Given the description of an element on the screen output the (x, y) to click on. 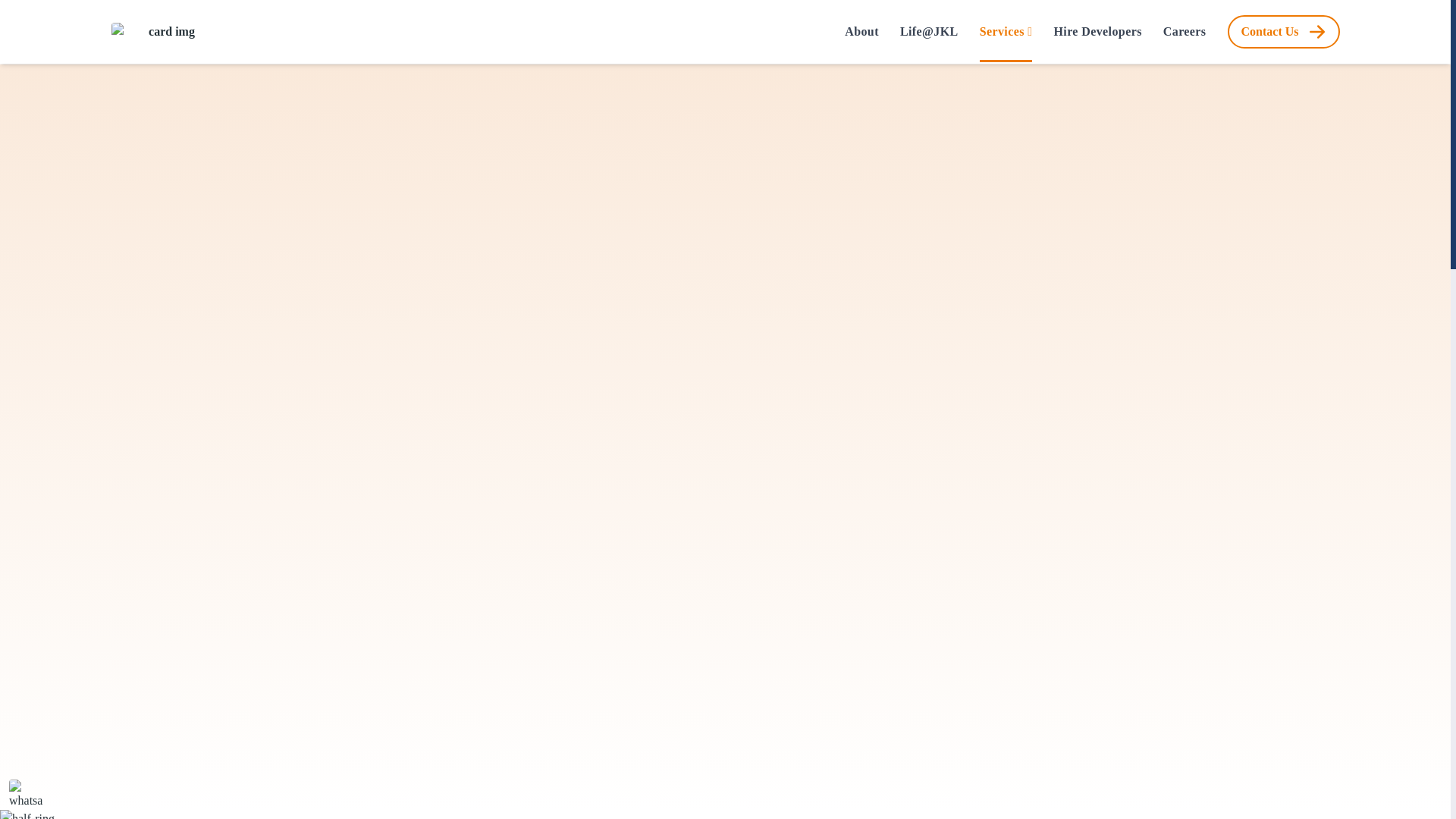
About (861, 31)
Careers (1185, 31)
Hire Developers (1096, 31)
Contact Us (1283, 31)
